Given the description of an element on the screen output the (x, y) to click on. 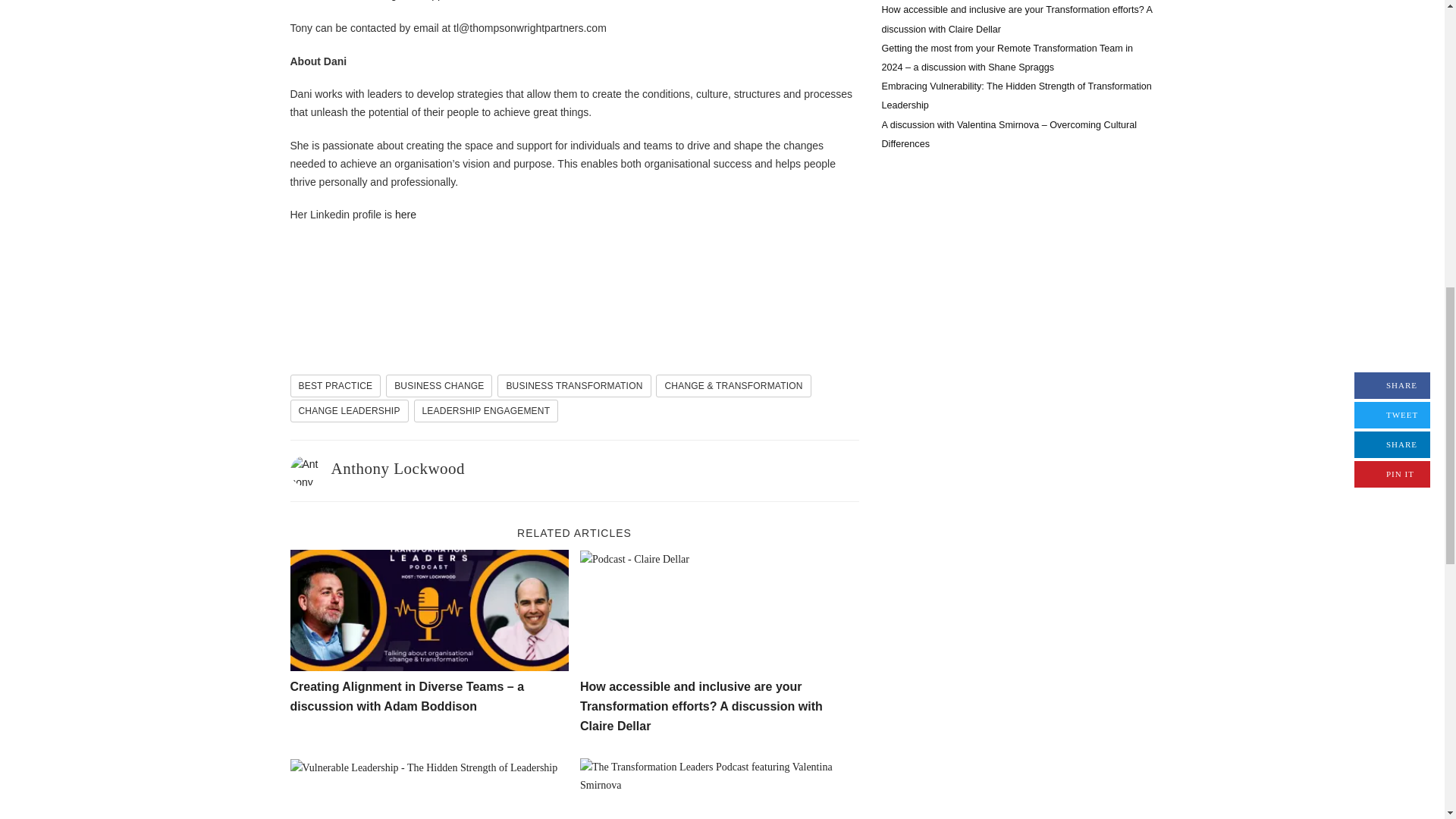
BEST PRACTICE (334, 385)
BUSINESS CHANGE (438, 385)
Best Practice Tag (334, 385)
Business Transformation Tag (573, 385)
LEADERSHIP ENGAGEMENT (486, 410)
CHANGE LEADERSHIP (348, 410)
Change Leadership Tag (348, 410)
